Given the description of an element on the screen output the (x, y) to click on. 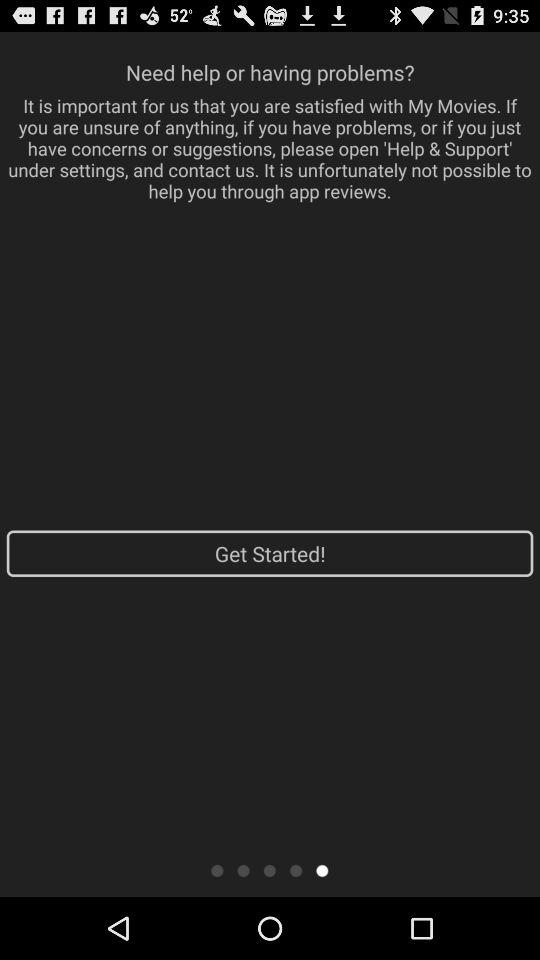
go to second page (243, 870)
